Given the description of an element on the screen output the (x, y) to click on. 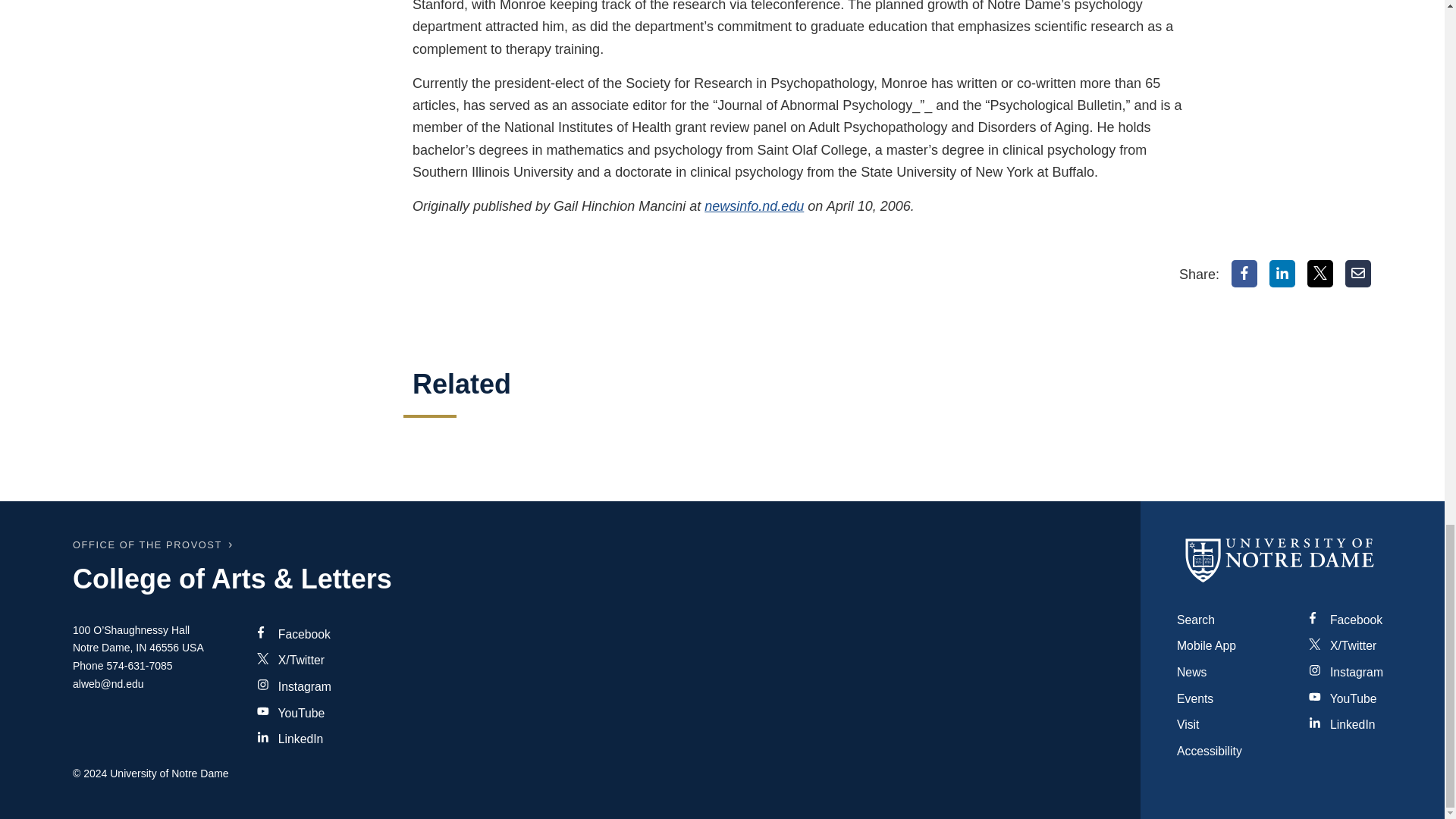
Email (1358, 273)
LinkedIn (1282, 273)
Facebook (1244, 273)
